Given the description of an element on the screen output the (x, y) to click on. 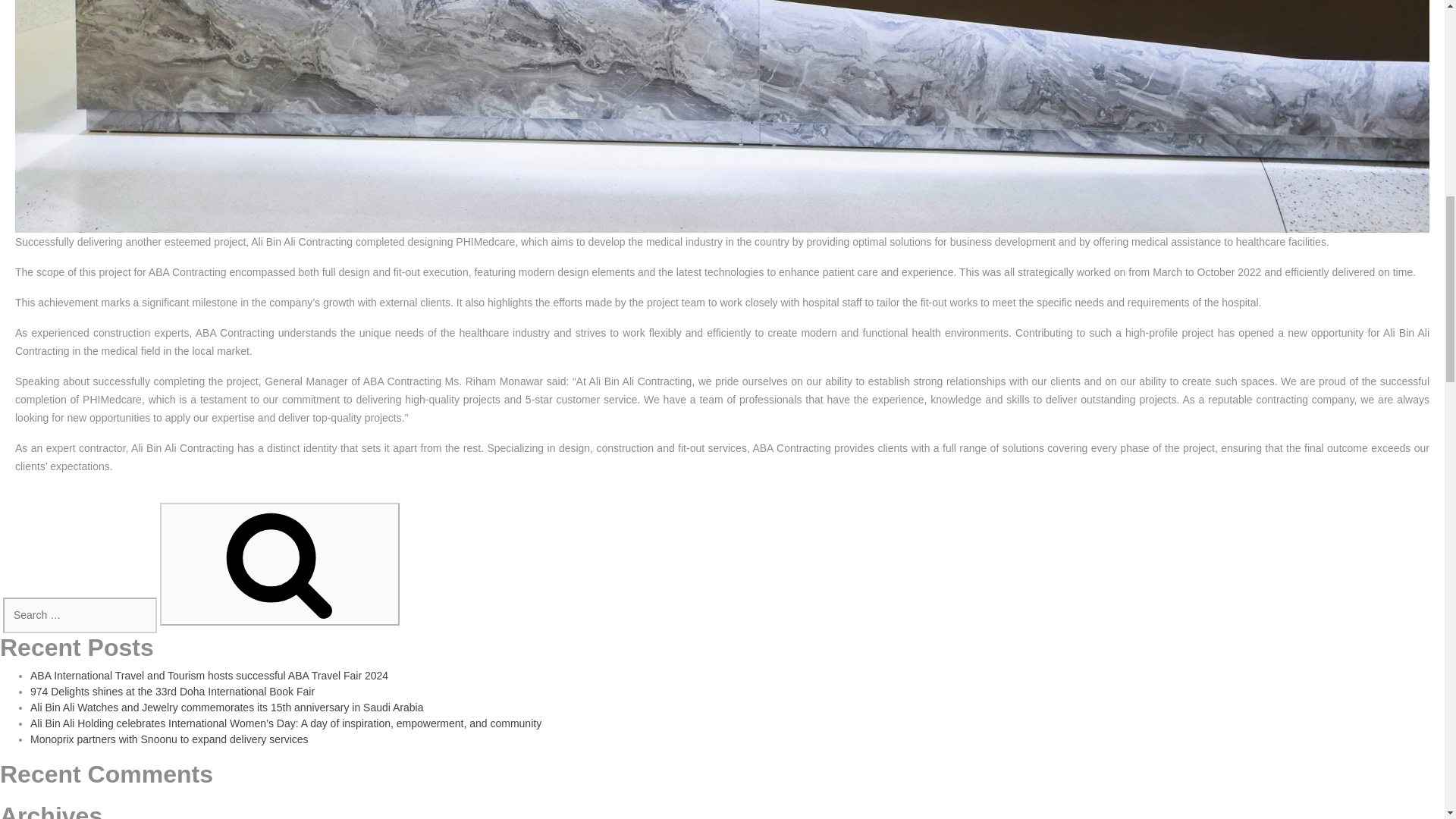
Monoprix partners with Snoonu to expand delivery services (169, 739)
Search (279, 563)
974 Delights shines at the 33rd Doha International Book Fair (172, 691)
